Given the description of an element on the screen output the (x, y) to click on. 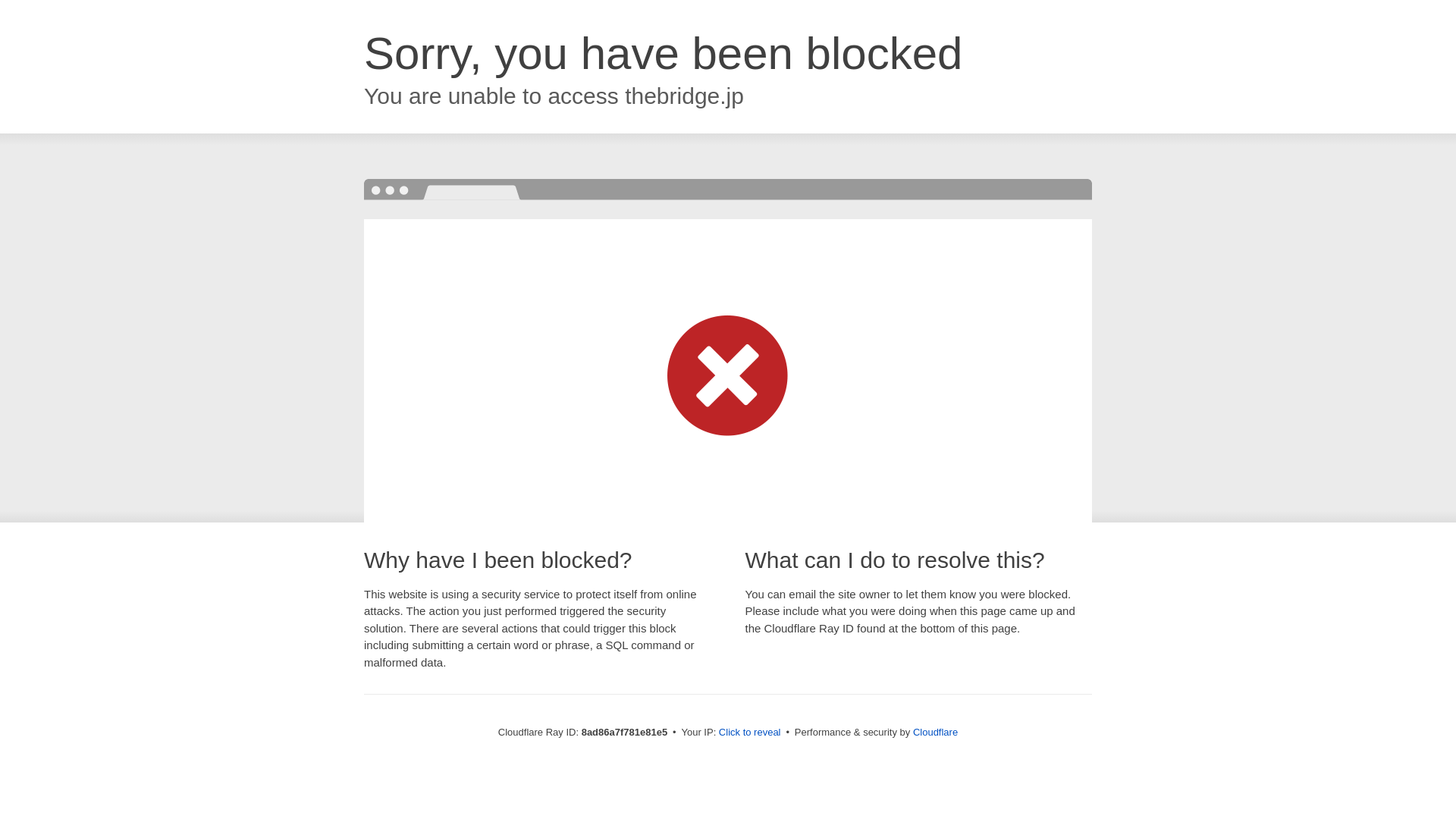
Click to reveal (749, 732)
Cloudflare (935, 731)
